Given the description of an element on the screen output the (x, y) to click on. 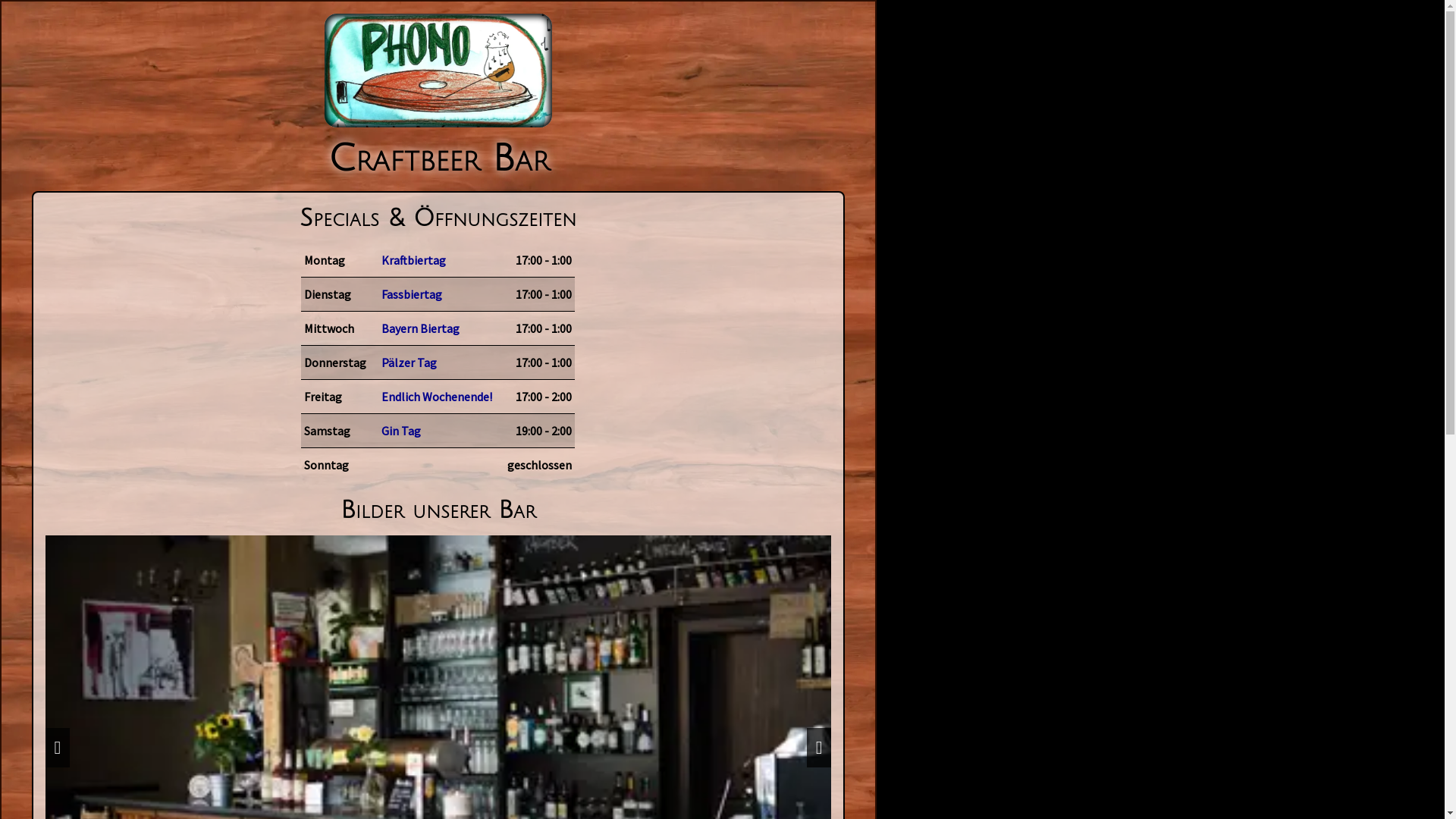
Fassbiertag Element type: text (436, 293)
Phono Craftbeer Bar Element type: text (438, 70)
Kraftbiertag Element type: text (436, 259)
Gin Tag Element type: text (436, 430)
Endlich Wochenende! Element type: text (436, 396)
Bayern Biertag Element type: text (436, 328)
